Given the description of an element on the screen output the (x, y) to click on. 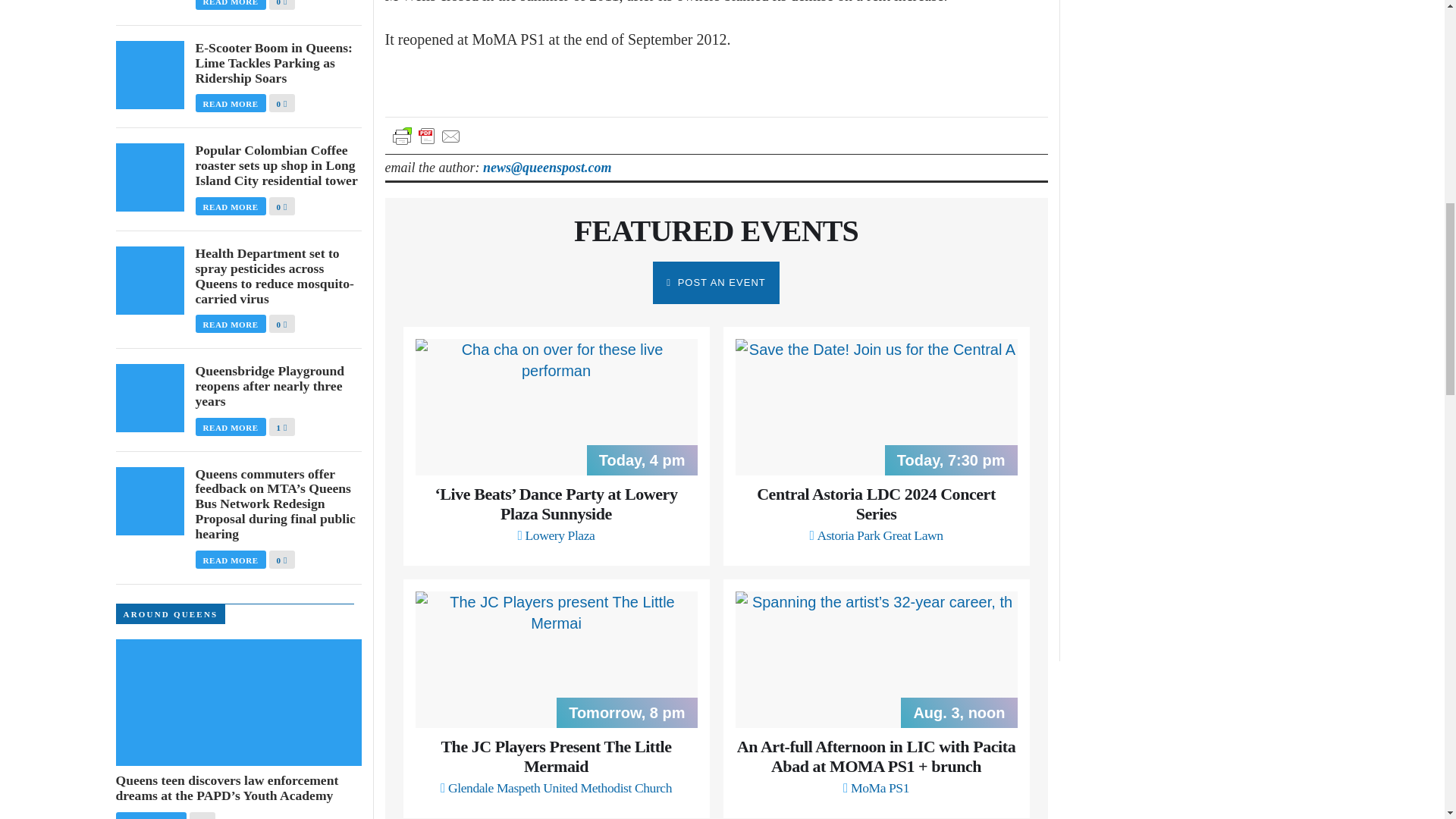
POST AN EVENT (715, 282)
FEATURED EVENTS (716, 230)
